Given the description of an element on the screen output the (x, y) to click on. 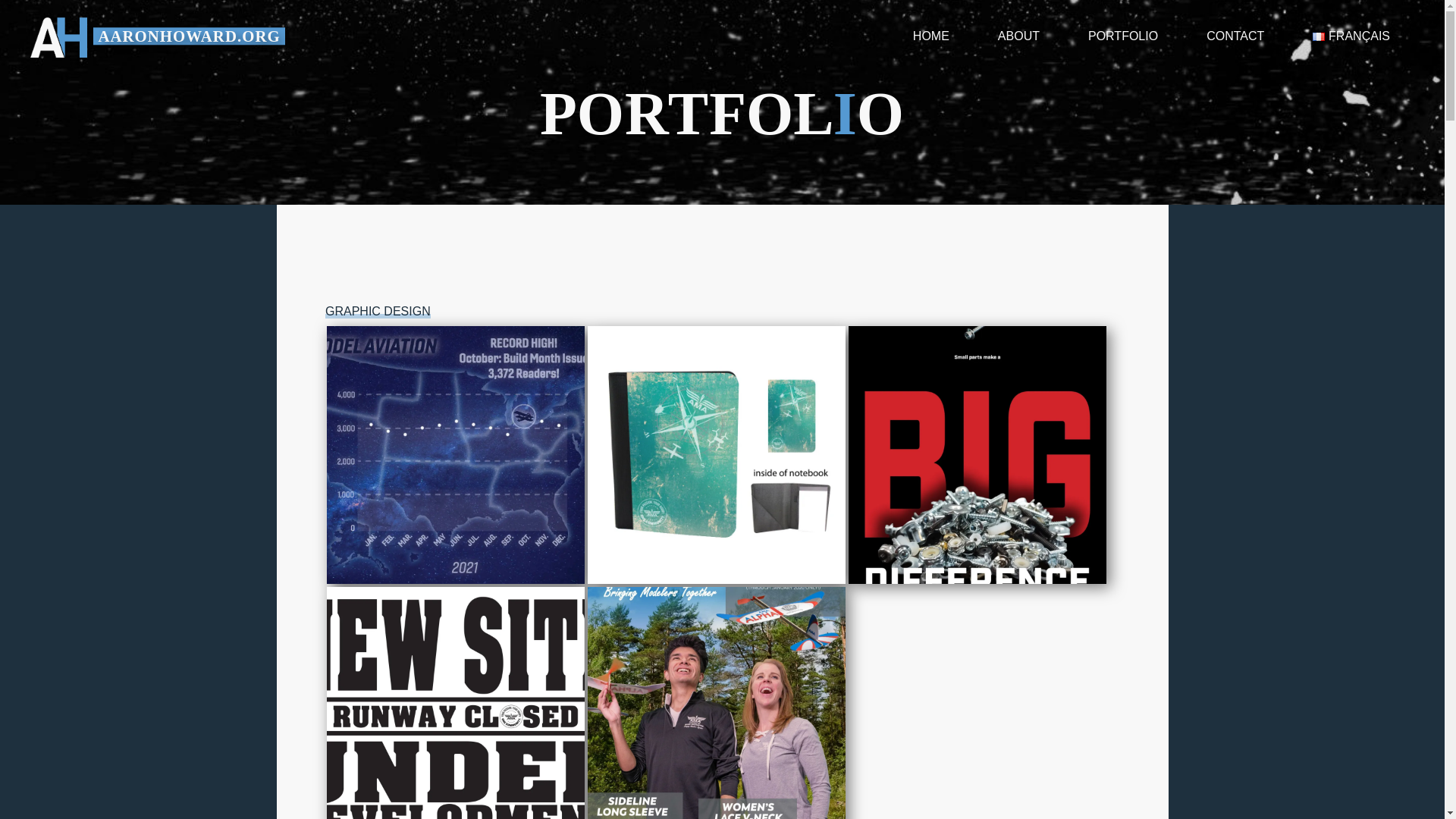
ABOUT (1019, 35)
CONTACT (1235, 35)
RTL Fasteners Big Difference (976, 454)
PORTFOLIO (1123, 35)
HOME (931, 35)
BDR79A-notebook (715, 454)
AARONHOWARD.ORG (188, 36)
Graphic Designer (188, 36)
AARONHOWARD.ORG (58, 35)
runway closed (454, 703)
SHOP AMA JANUARY 2020 (715, 703)
